Given the description of an element on the screen output the (x, y) to click on. 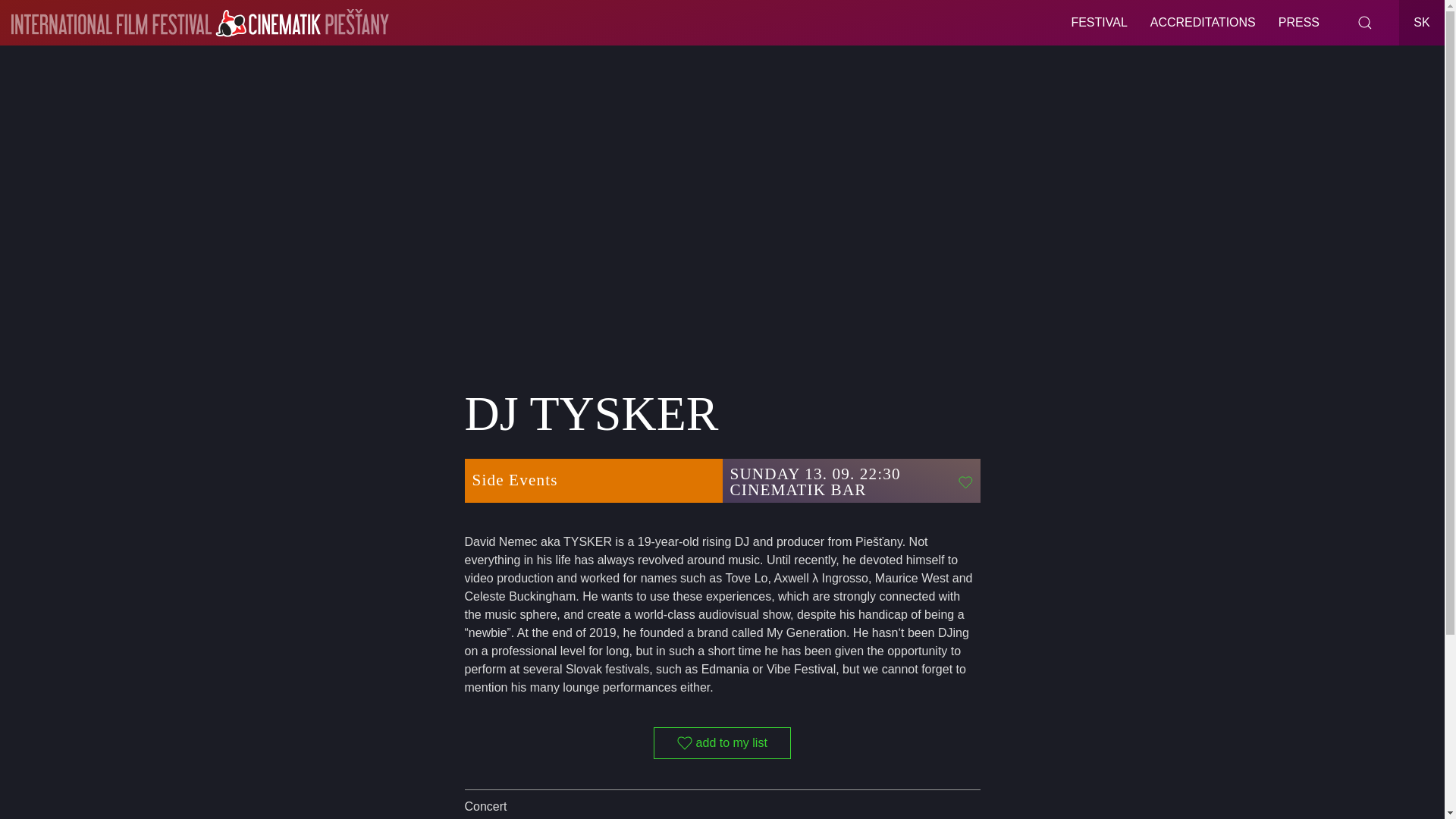
CINEMATIK BAR (842, 489)
Side Events (592, 480)
add to my list (721, 743)
PRESS (1298, 22)
FESTIVAL (1098, 22)
ACCREDITATIONS (1202, 22)
